Given the description of an element on the screen output the (x, y) to click on. 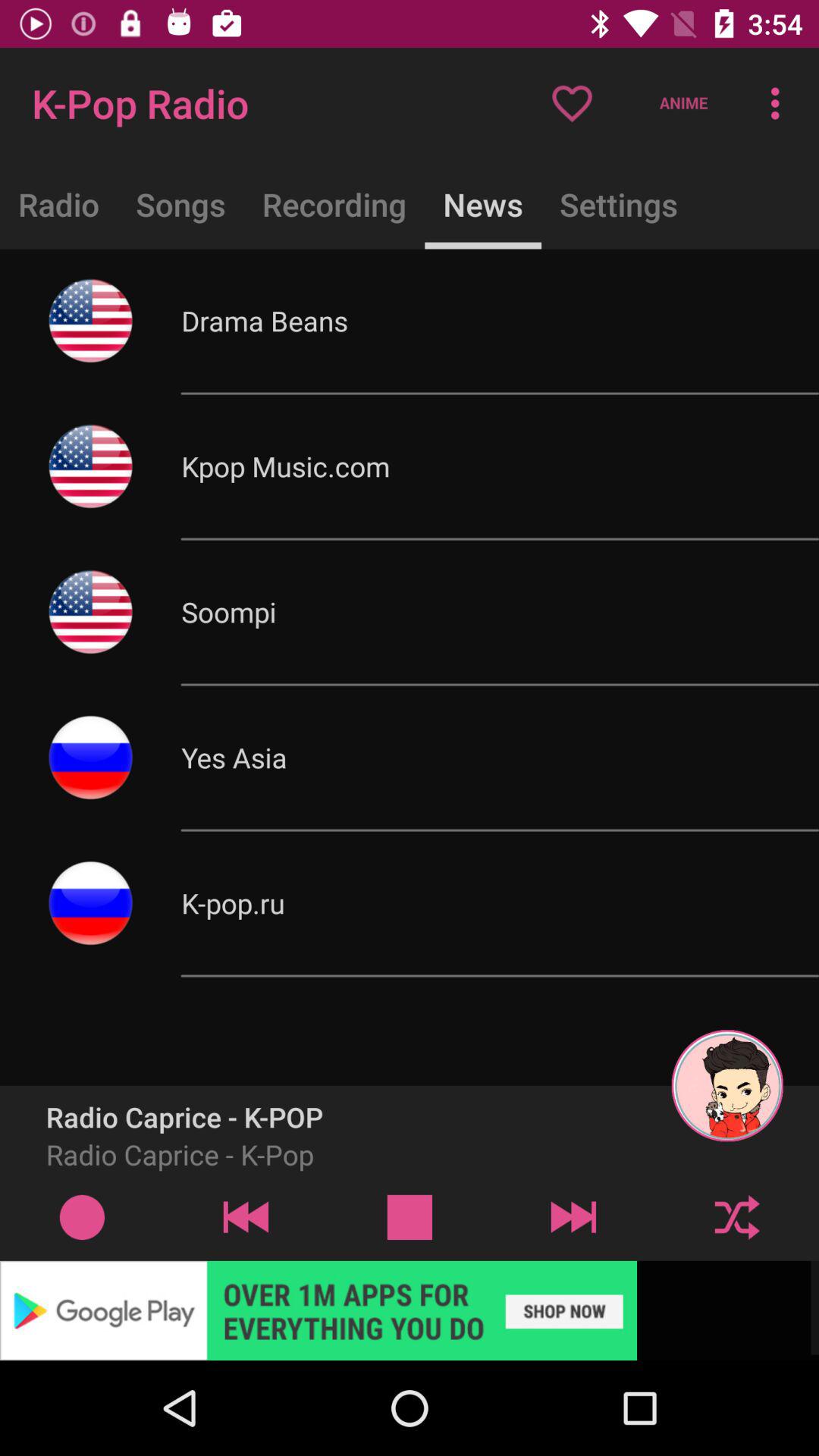
skip to the next track (573, 1216)
